Given the description of an element on the screen output the (x, y) to click on. 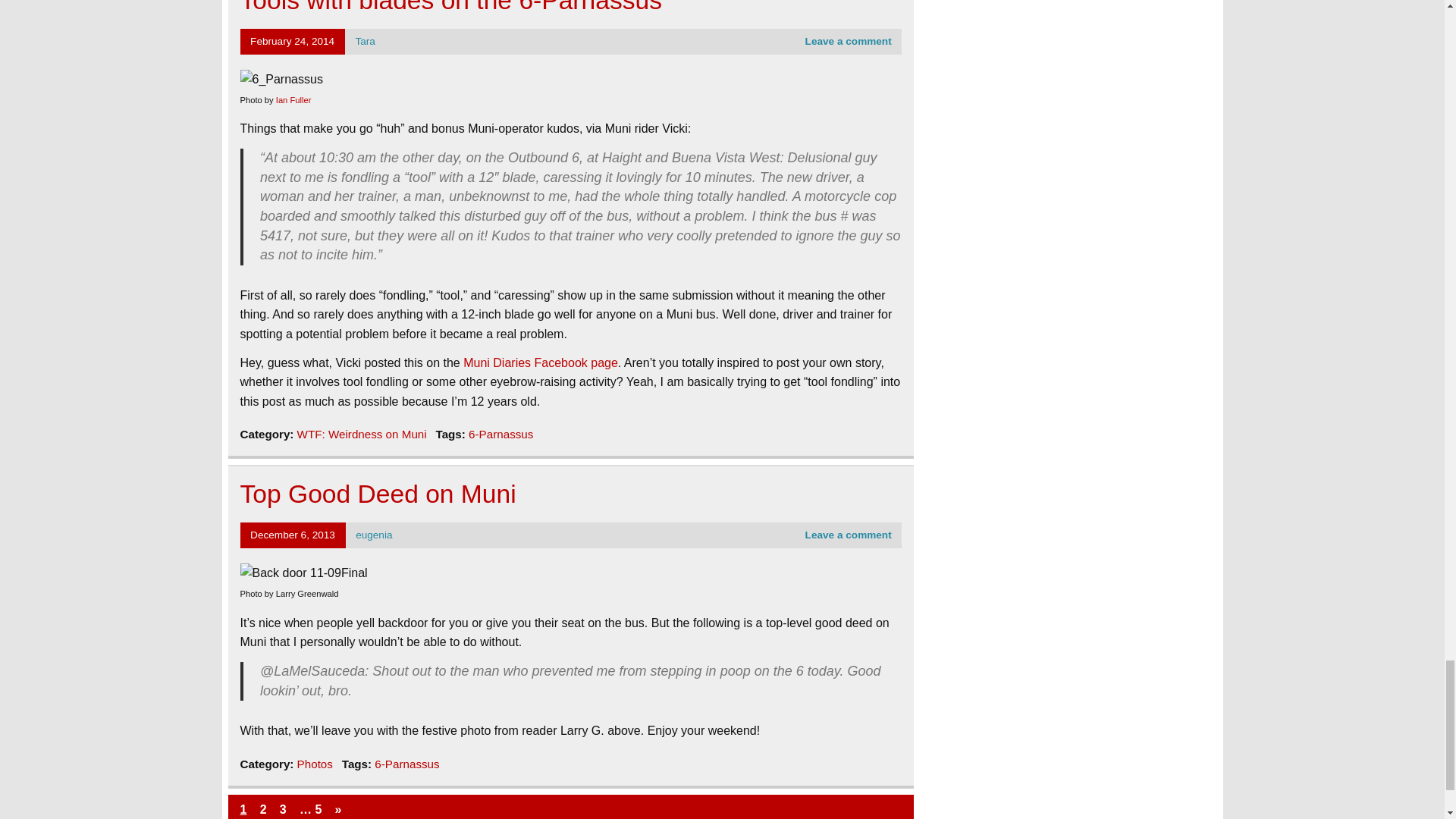
View all posts by Tara (364, 41)
2:55 pm (292, 41)
2:55 pm (292, 534)
View all posts by eugenia (373, 534)
